Given the description of an element on the screen output the (x, y) to click on. 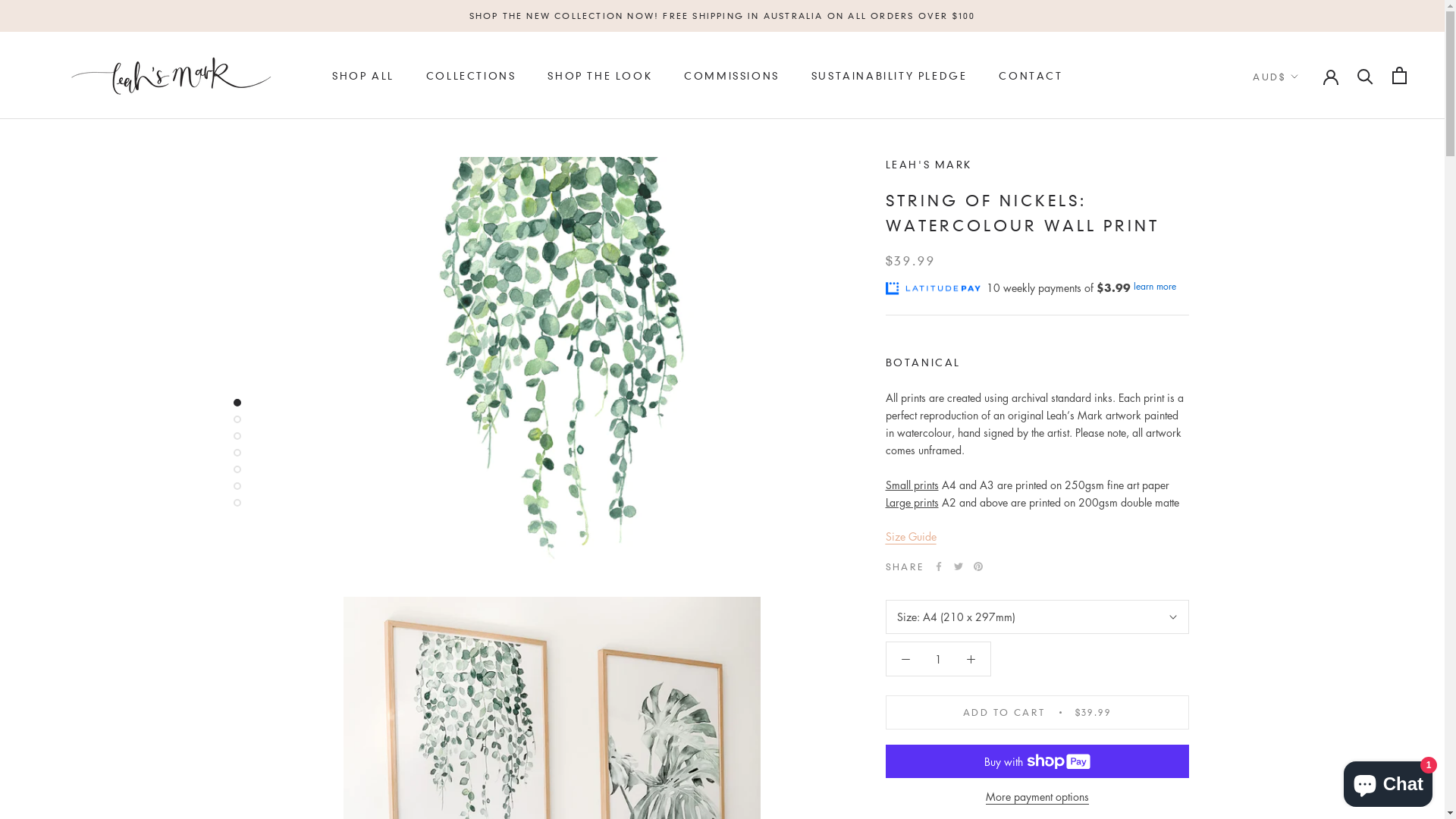
DKK Element type: text (1305, 698)
learn more Element type: text (1153, 285)
BSD Element type: text (1305, 449)
BBD Element type: text (1305, 313)
BIF Element type: text (1305, 381)
CZK Element type: text (1305, 652)
CRC Element type: text (1305, 607)
BOB Element type: text (1305, 426)
CHF Element type: text (1305, 562)
BND Element type: text (1305, 404)
AZN Element type: text (1305, 268)
CAD Element type: text (1305, 517)
Size Guide Element type: text (910, 535)
AFN Element type: text (1305, 133)
DZD Element type: text (1305, 743)
EGP Element type: text (1305, 765)
AUD$ Element type: text (1275, 77)
SHOP THE LOOK
SHOP THE LOOK Element type: text (599, 75)
ADD TO CART
$39.99 Element type: text (1037, 712)
COMMISSIONS Element type: text (731, 75)
AMD Element type: text (1305, 178)
Size: A4 (210 x 297mm) Element type: text (1037, 616)
More payment options Element type: text (1036, 795)
DJF Element type: text (1305, 675)
Shopify online store chat Element type: hover (1388, 780)
BGN Element type: text (1305, 359)
SHOP ALL Element type: text (363, 75)
CVE Element type: text (1305, 630)
CONTACT
CONTACT Element type: text (1030, 75)
ANG Element type: text (1305, 200)
CDF Element type: text (1305, 539)
BZD Element type: text (1305, 494)
AED Element type: text (1305, 110)
DOP Element type: text (1305, 720)
AWG Element type: text (1305, 246)
ALL Element type: text (1305, 155)
COLLECTIONS Element type: text (471, 75)
BDT Element type: text (1305, 336)
BWP Element type: text (1305, 472)
CNY Element type: text (1305, 585)
SUSTAINABILITY PLEDGE
SUSTAINABILITY PLEDGE Element type: text (889, 75)
ETB Element type: text (1305, 788)
BAM Element type: text (1305, 291)
AUD Element type: text (1305, 223)
